Given the description of an element on the screen output the (x, y) to click on. 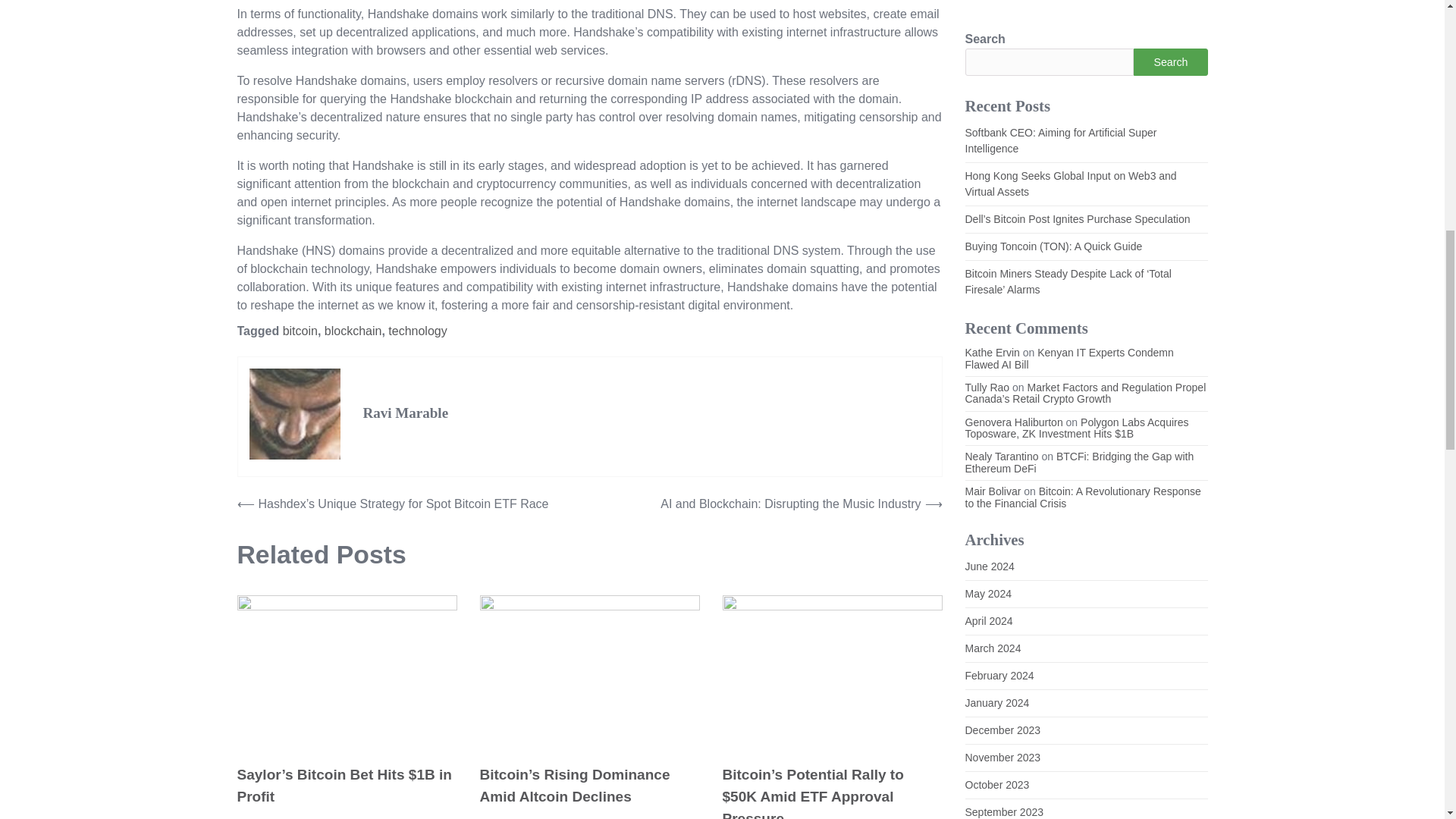
blockchain (352, 330)
bitcoin (299, 330)
technology (417, 330)
